Given the description of an element on the screen output the (x, y) to click on. 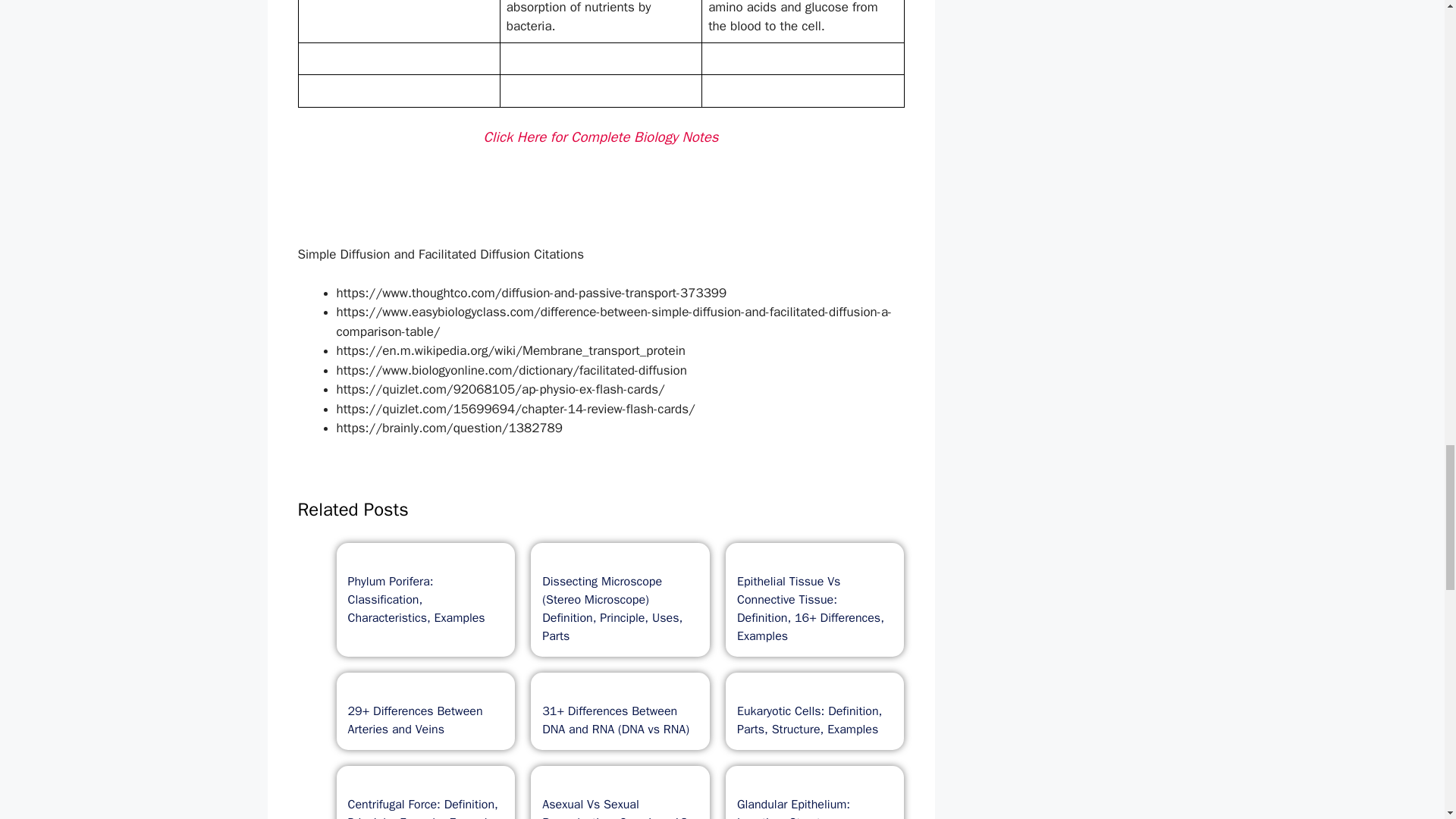
Phylum Porifera: Classification, Characteristics, Examples (415, 599)
Click Here for Complete Biology Notes (601, 136)
